Given the description of an element on the screen output the (x, y) to click on. 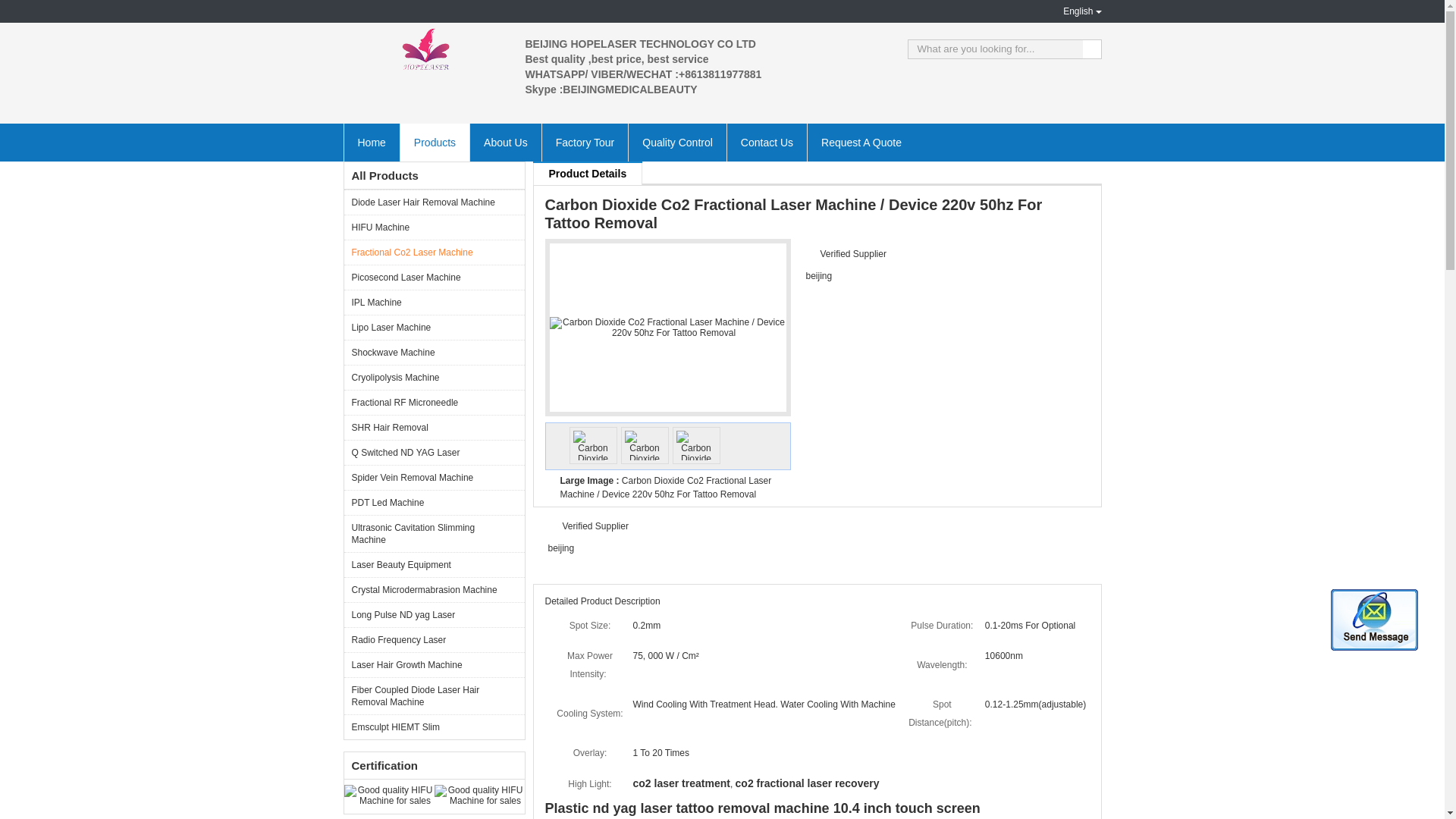
Contact Us (766, 142)
PDT Led Machine (433, 502)
Long Pulse ND yag Laser (433, 614)
About Us (504, 142)
Picosecond Laser Machine (433, 276)
English (1069, 10)
Shockwave Machine (433, 351)
Factory Tour (584, 142)
Crystal Microdermabrasion Machine (433, 589)
Products (433, 142)
